Given the description of an element on the screen output the (x, y) to click on. 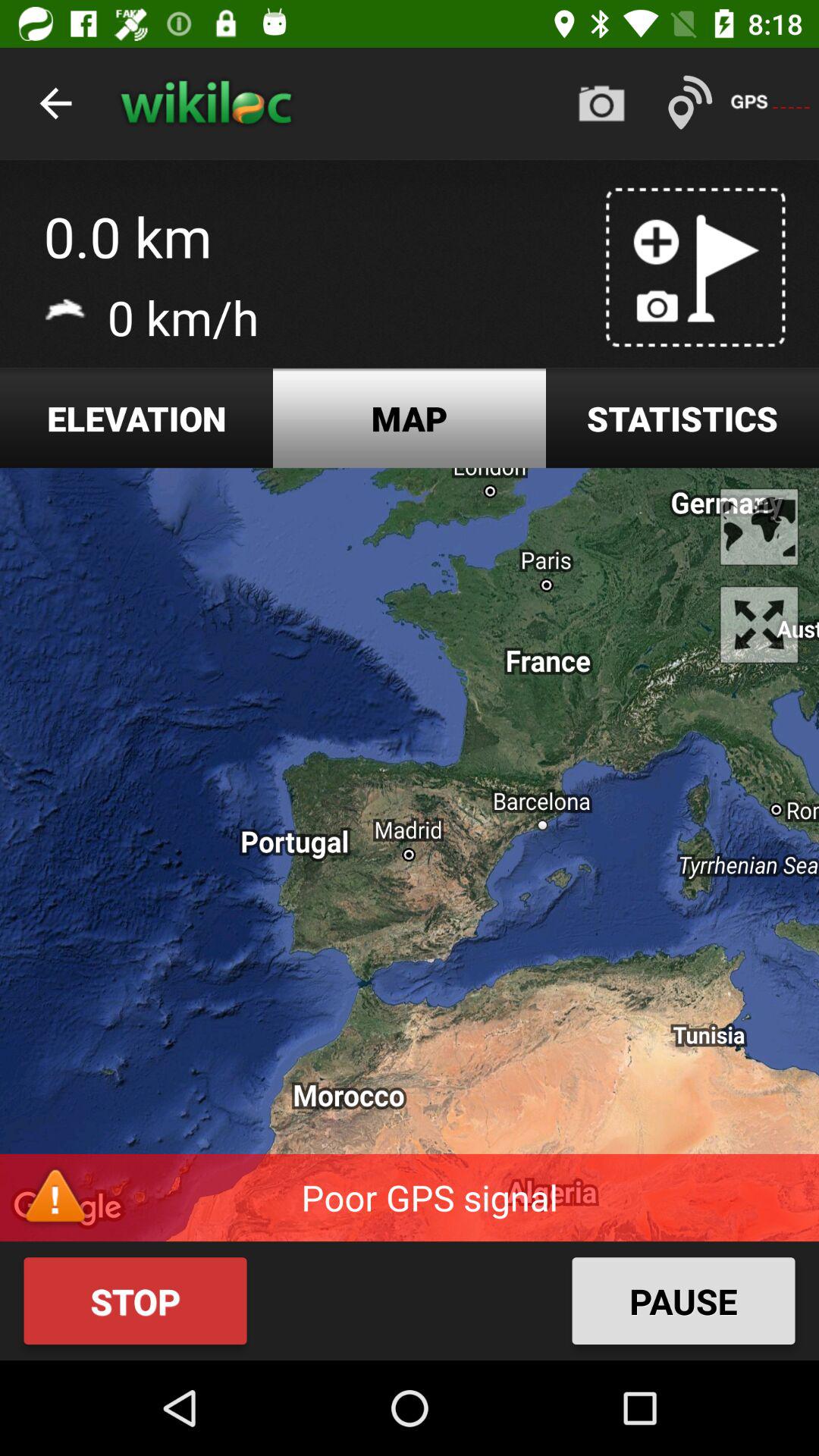
open icon below elevation icon (409, 854)
